Given the description of an element on the screen output the (x, y) to click on. 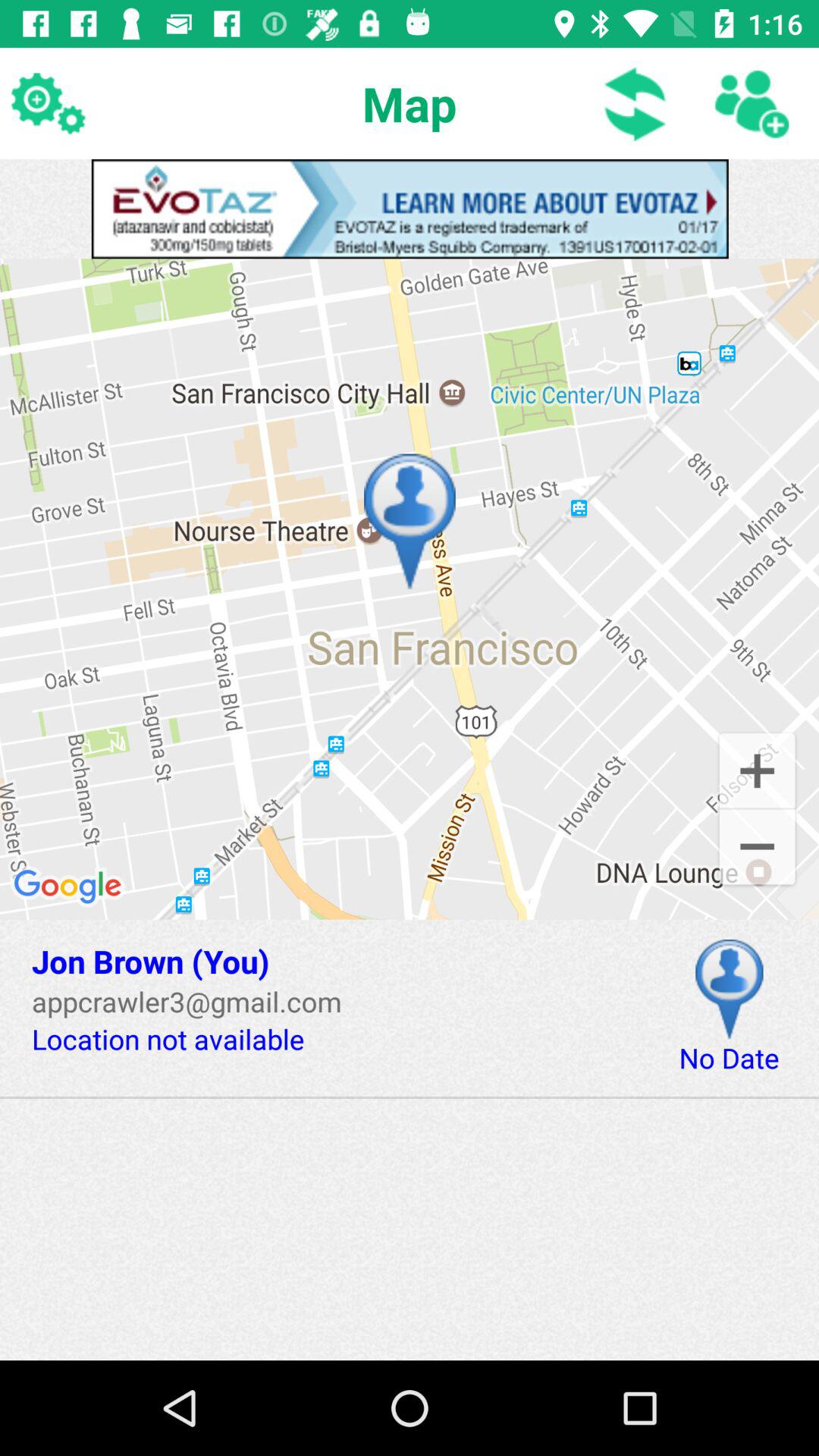
refresh map (635, 103)
